Given the description of an element on the screen output the (x, y) to click on. 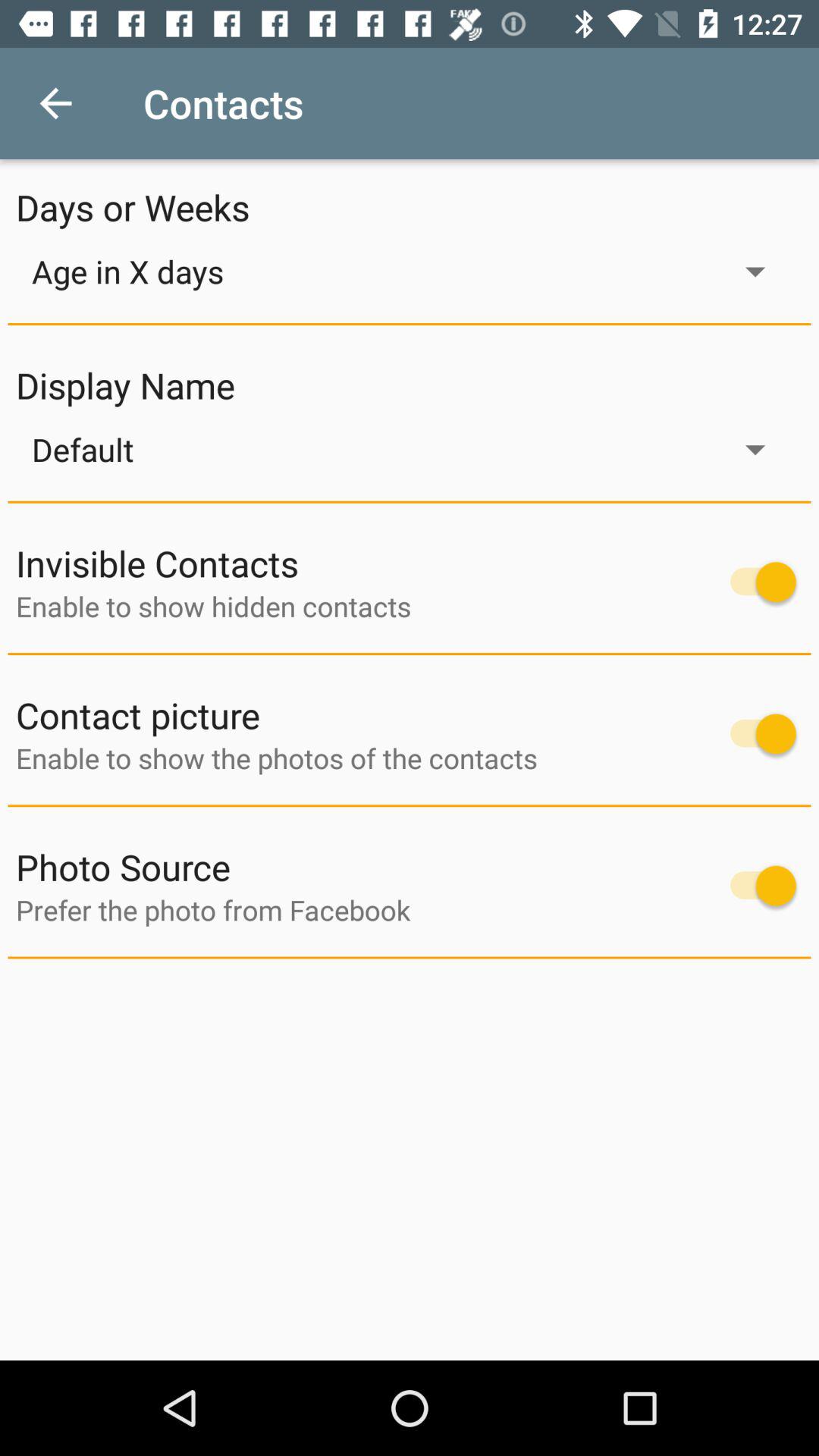
contacts invisible contacts (755, 582)
